Given the description of an element on the screen output the (x, y) to click on. 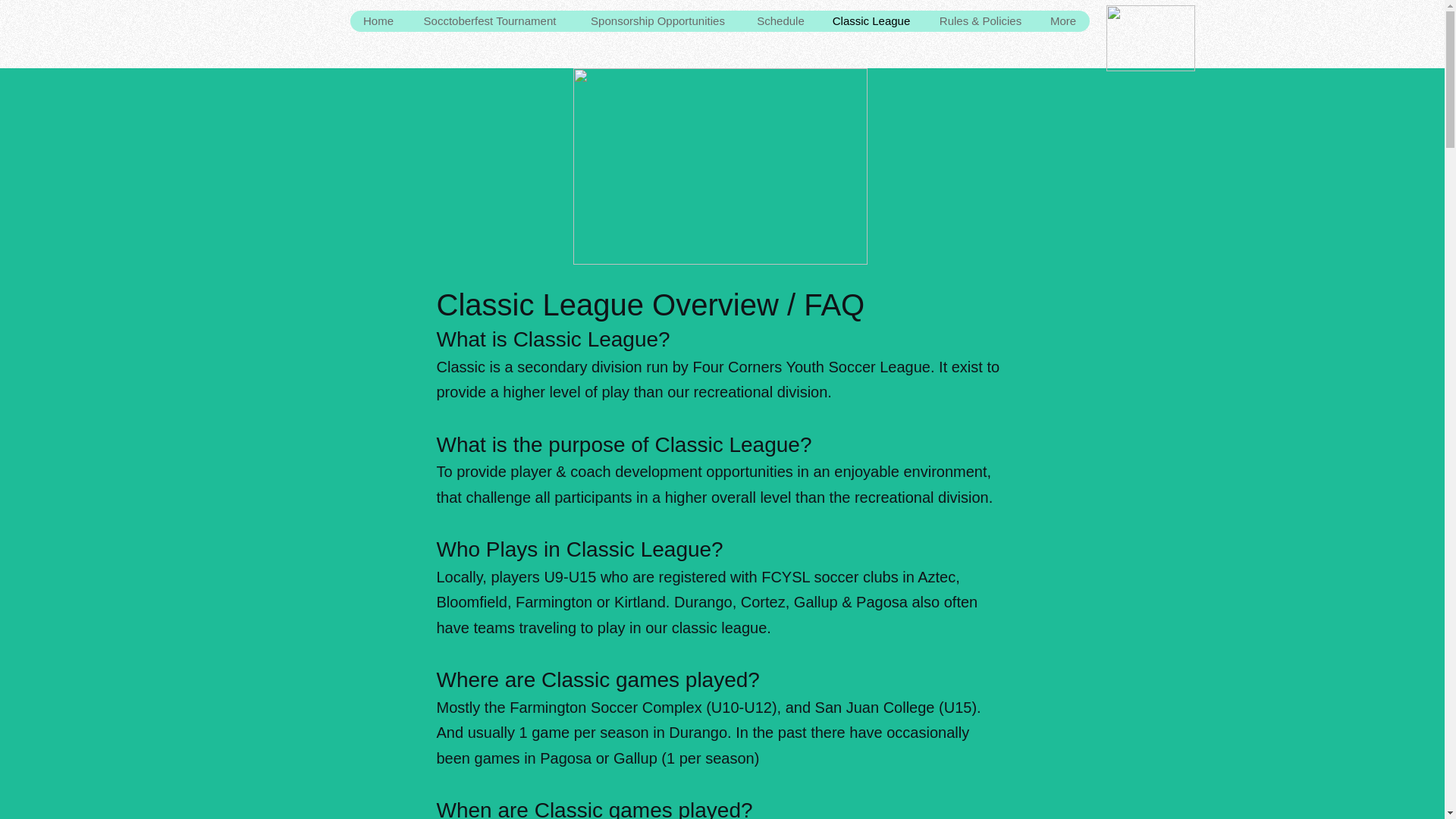
Home (378, 20)
Classic League (869, 20)
Sponsorship Opportunities (657, 20)
Schedule (780, 20)
Socctoberfest Tournament (489, 20)
